Given the description of an element on the screen output the (x, y) to click on. 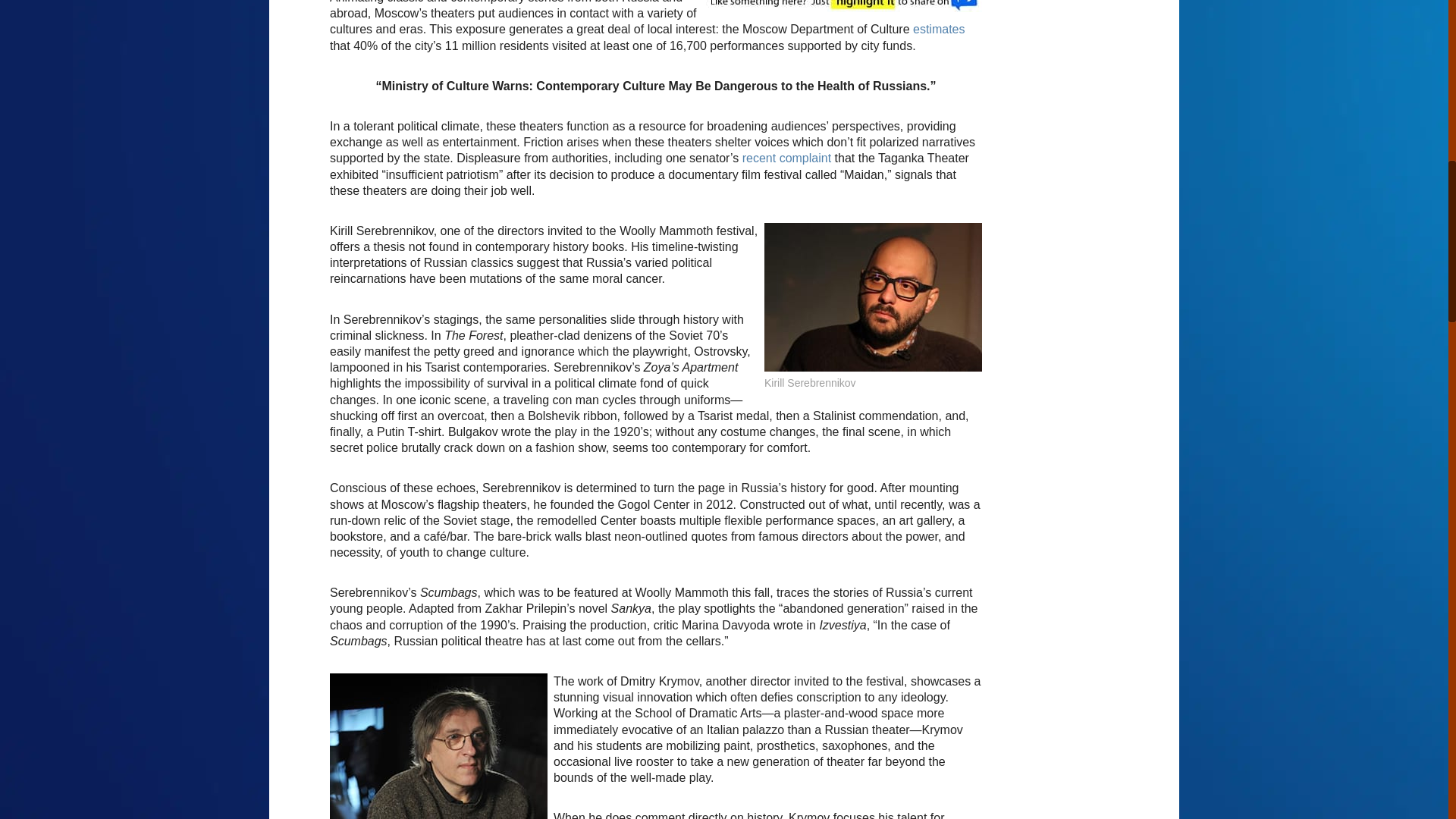
estimates (937, 29)
recent complaint (786, 157)
